Given the description of an element on the screen output the (x, y) to click on. 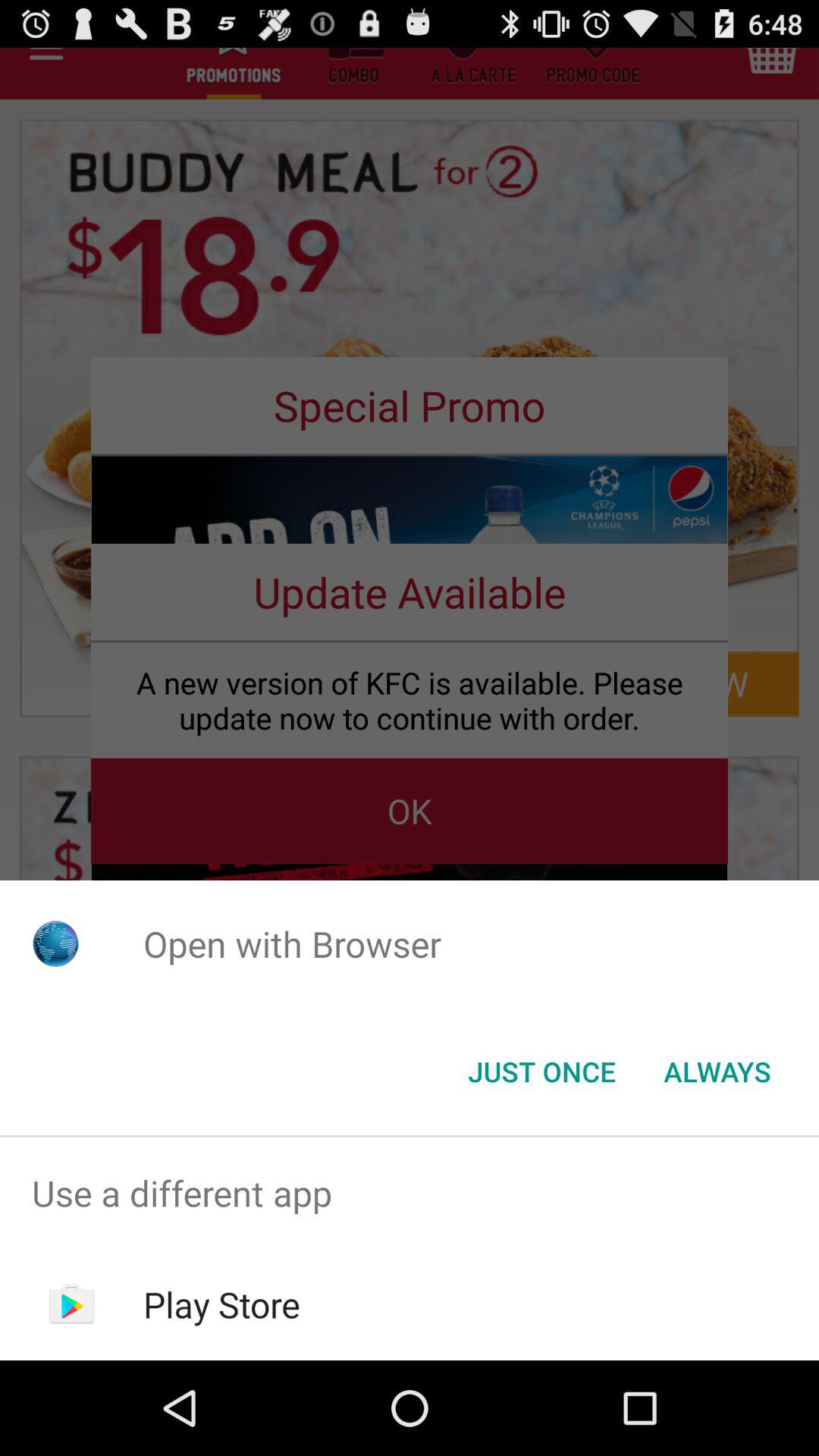
turn off the item below open with browser app (541, 1071)
